Given the description of an element on the screen output the (x, y) to click on. 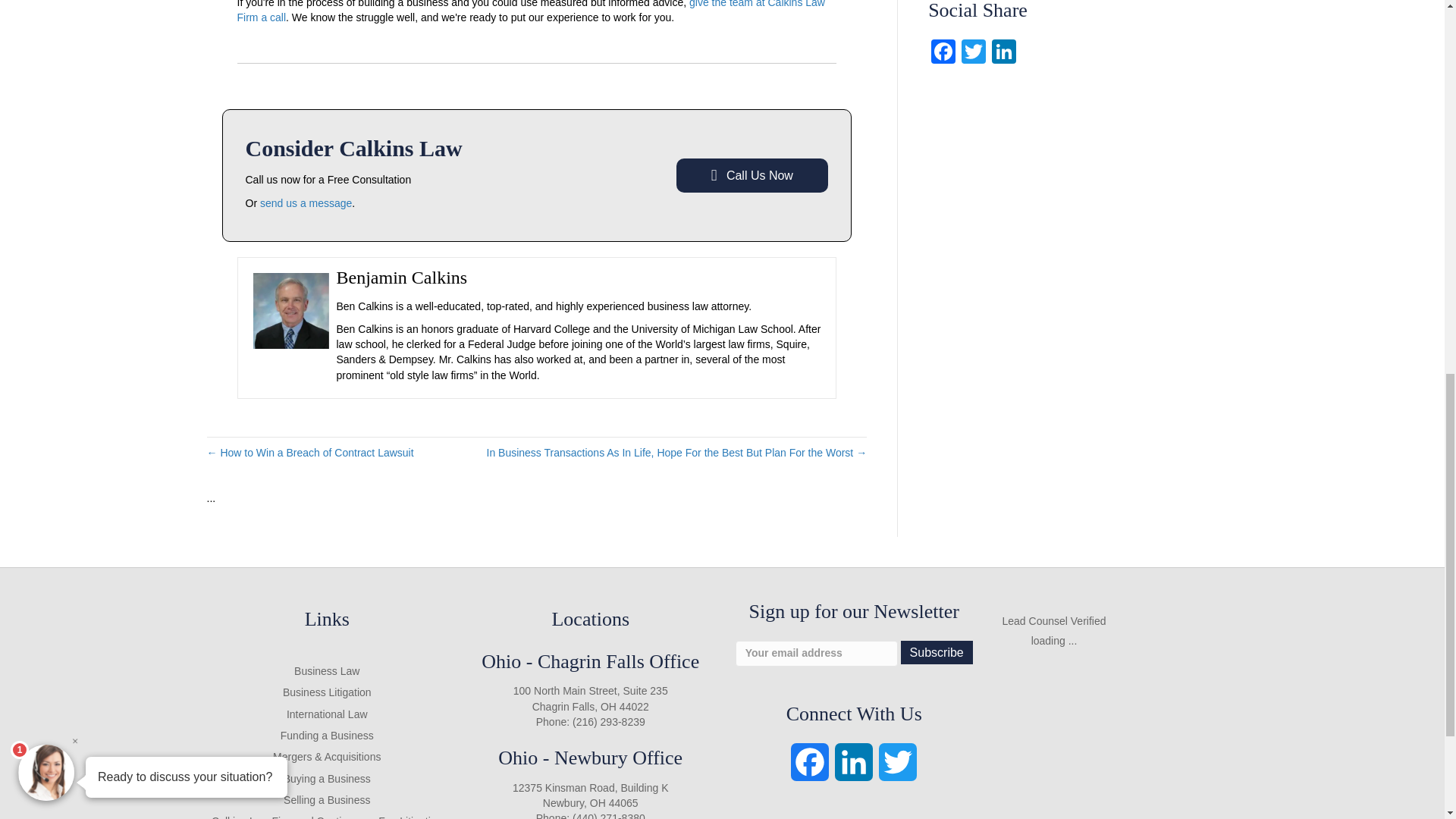
Facebook (943, 53)
LinkedIn (1003, 53)
Subscribe (936, 652)
Twitter (973, 53)
